Given the description of an element on the screen output the (x, y) to click on. 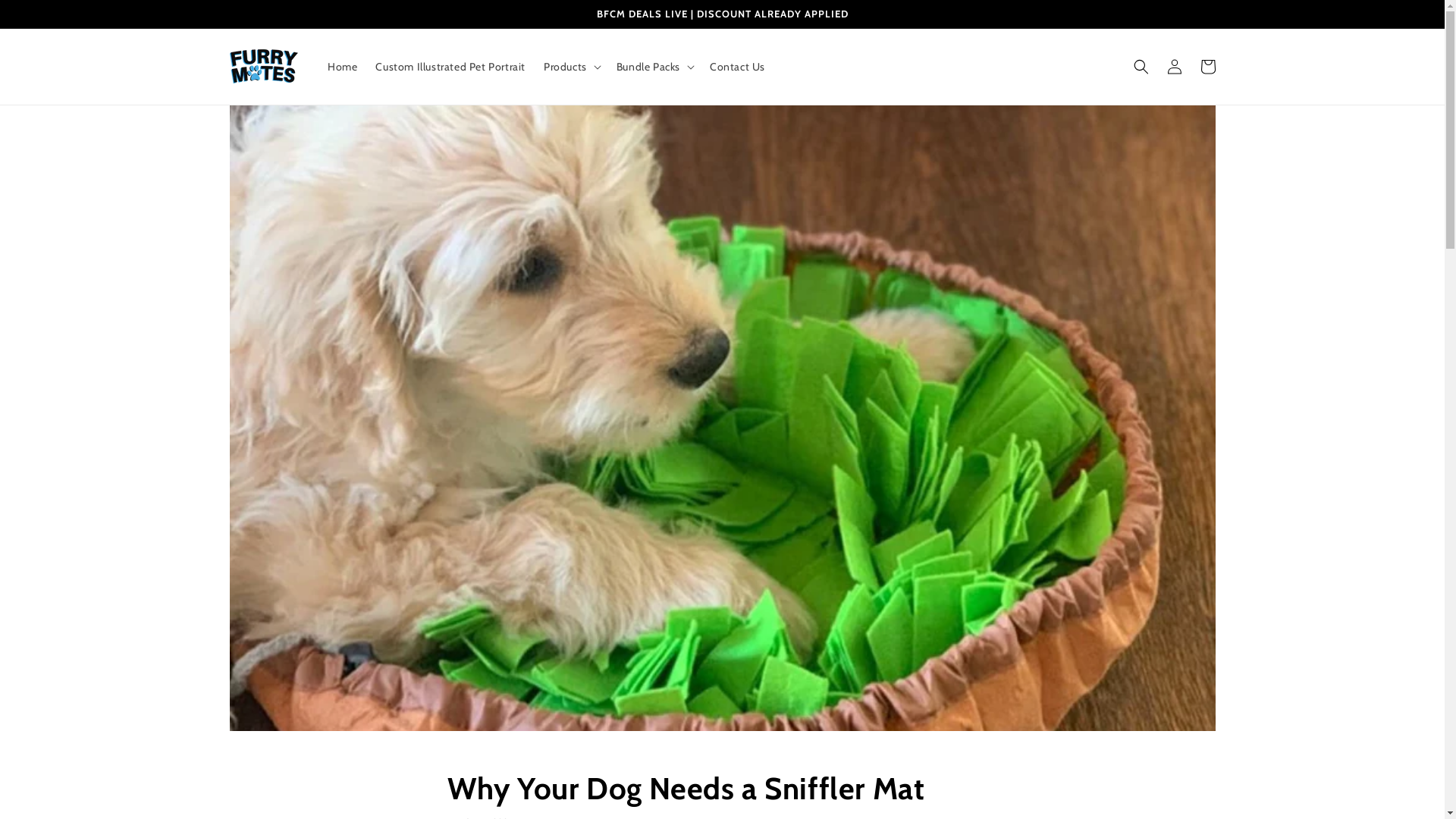
Cart Element type: text (1206, 66)
Contact Us Element type: text (737, 66)
Home Element type: text (342, 66)
Log in Element type: text (1173, 66)
Custom Illustrated Pet Portrait Element type: text (450, 66)
